Given the description of an element on the screen output the (x, y) to click on. 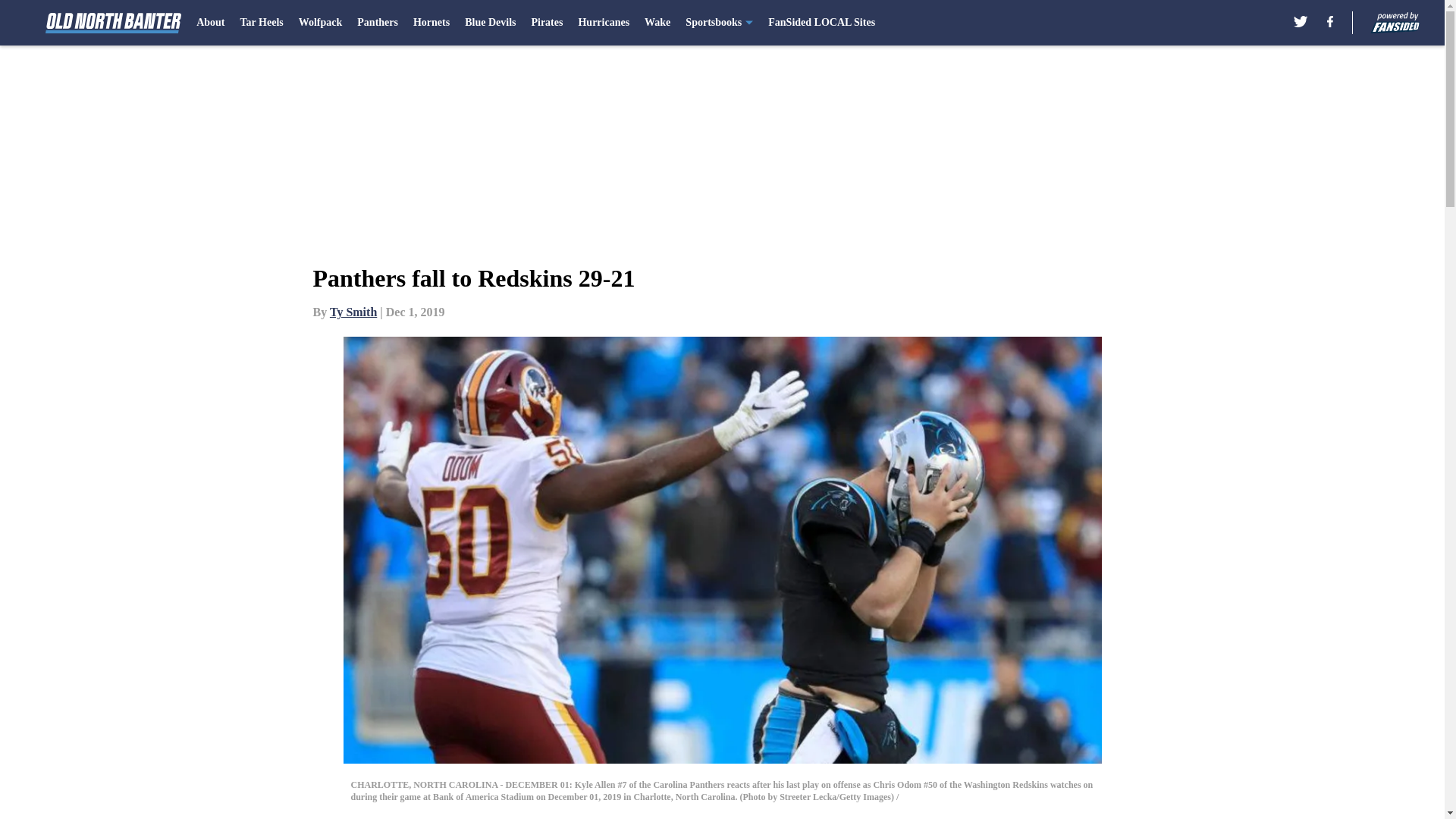
FanSided LOCAL Sites (821, 22)
About (210, 22)
Wake (657, 22)
Ty Smith (353, 311)
Wolfpack (320, 22)
Tar Heels (261, 22)
Panthers (376, 22)
Pirates (546, 22)
Blue Devils (489, 22)
Hurricanes (603, 22)
